Given the description of an element on the screen output the (x, y) to click on. 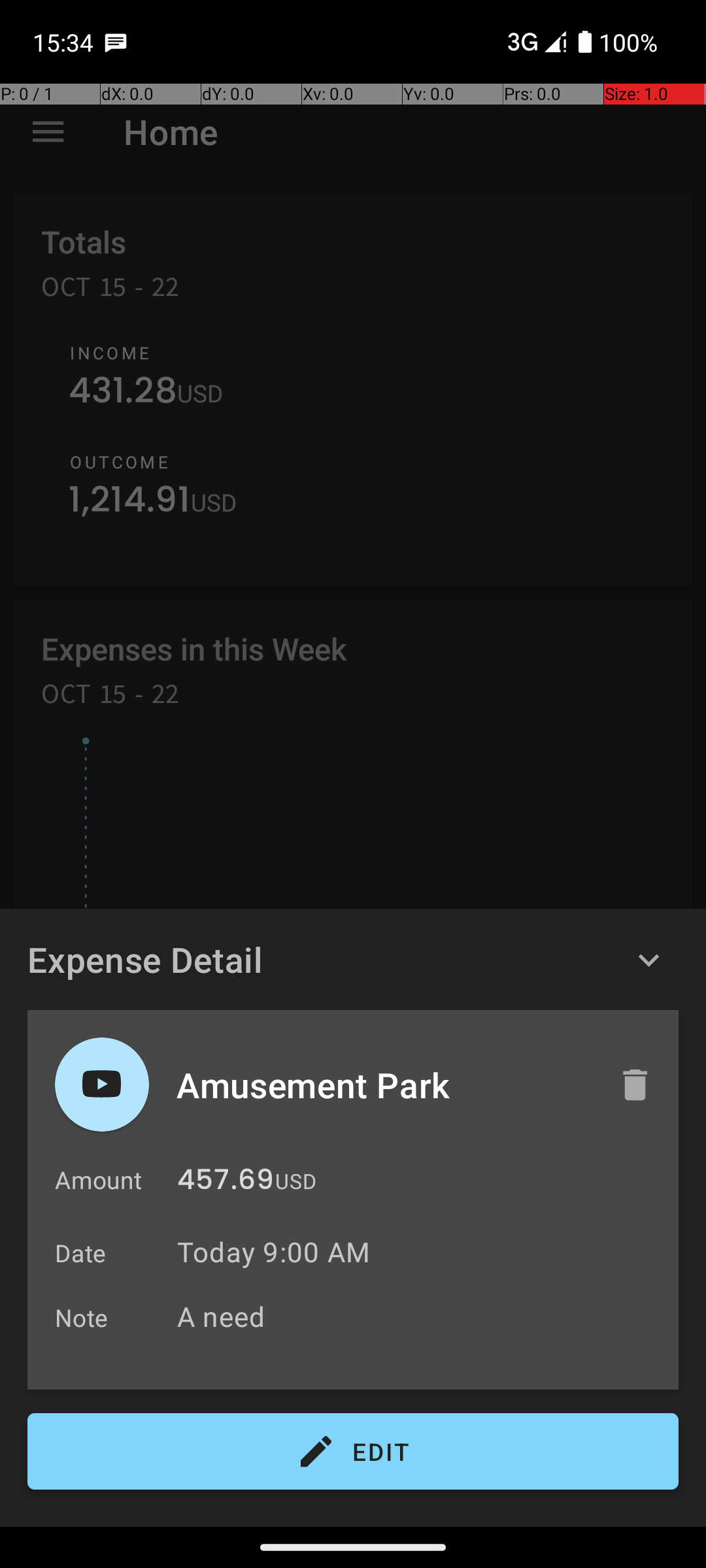
Amusement Park Element type: android.widget.TextView (383, 1084)
457.69 Element type: android.widget.TextView (225, 1182)
Today 9:00 AM Element type: android.widget.TextView (273, 1251)
A need Element type: android.widget.TextView (420, 1315)
SMS Messenger notification: +12845986552 Element type: android.widget.ImageView (115, 41)
